Given the description of an element on the screen output the (x, y) to click on. 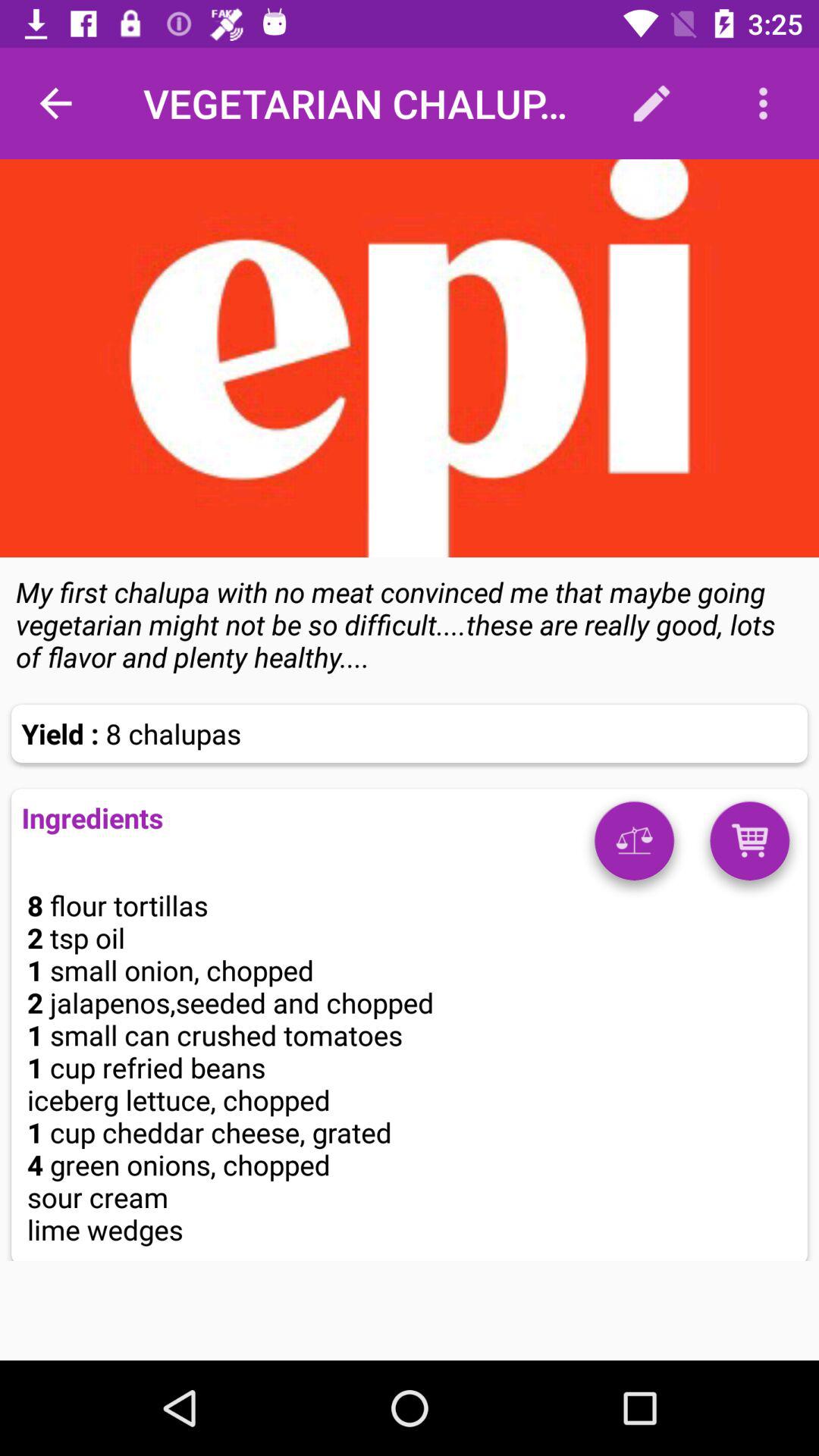
click icon next to vegetarian chalupas item (651, 103)
